Given the description of an element on the screen output the (x, y) to click on. 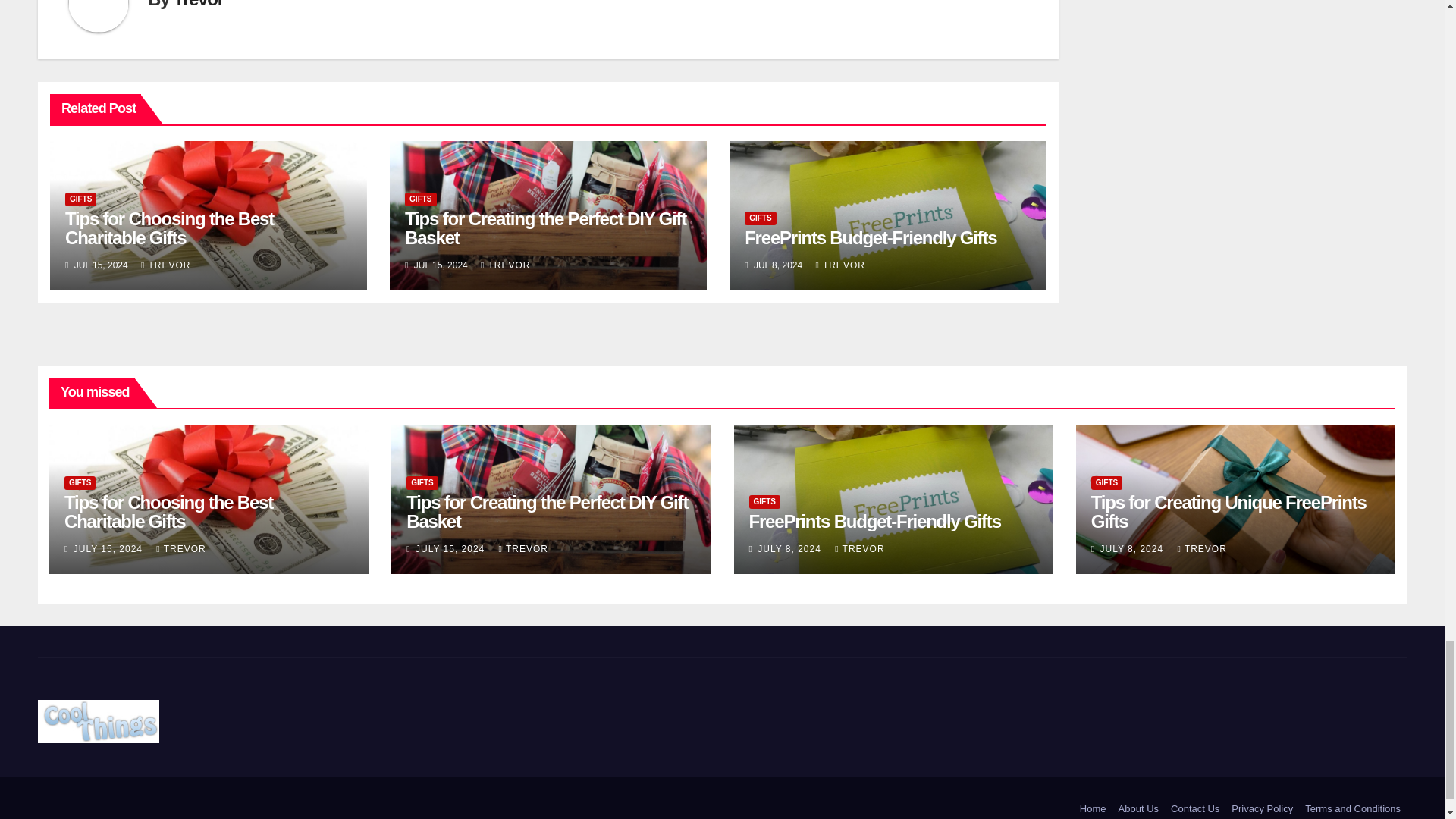
Tips for Creating the Perfect DIY Gift Basket (544, 228)
Tips for Choosing the Best Charitable Gifts (169, 228)
TREVOR (165, 265)
Permalink to: Tips for Creating Unique FreePrints Gifts (1228, 511)
TREVOR (839, 265)
GIFTS (80, 199)
Permalink to: Tips for Creating the Perfect DIY Gift Basket (546, 511)
GIFTS (419, 199)
Permalink to: FreePrints Budget-Friendly Gifts (875, 521)
FreePrints Budget-Friendly Gifts (869, 237)
TREVOR (504, 265)
Permalink to: Tips for Choosing the Best Charitable Gifts (169, 228)
Permalink to: Tips for Choosing the Best Charitable Gifts (168, 511)
Home (1093, 807)
Permalink to: FreePrints Budget-Friendly Gifts (869, 237)
